Given the description of an element on the screen output the (x, y) to click on. 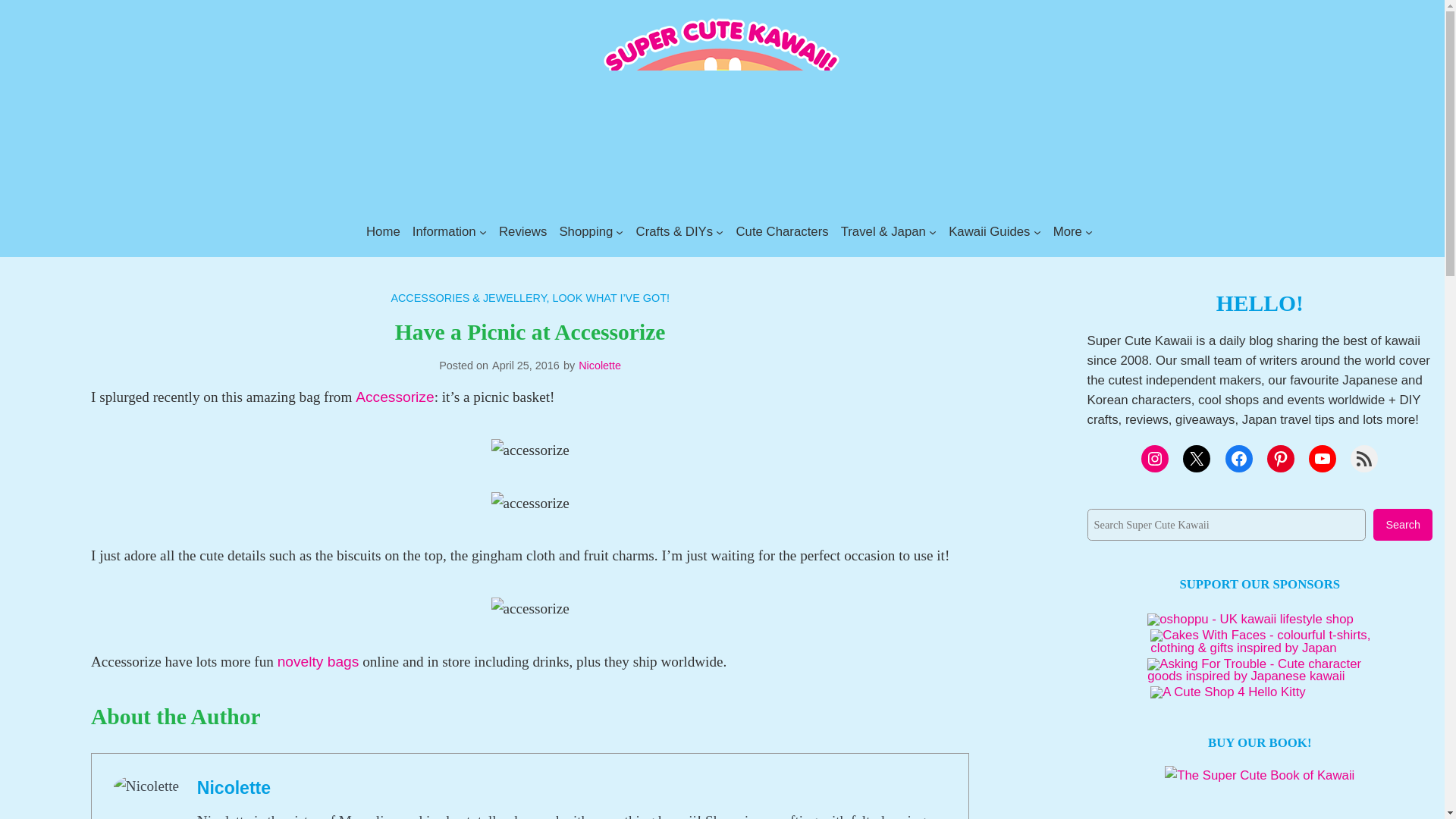
Shopping (585, 231)
Information (444, 231)
Nicolette (233, 787)
Reviews (523, 231)
Home (383, 231)
